Given the description of an element on the screen output the (x, y) to click on. 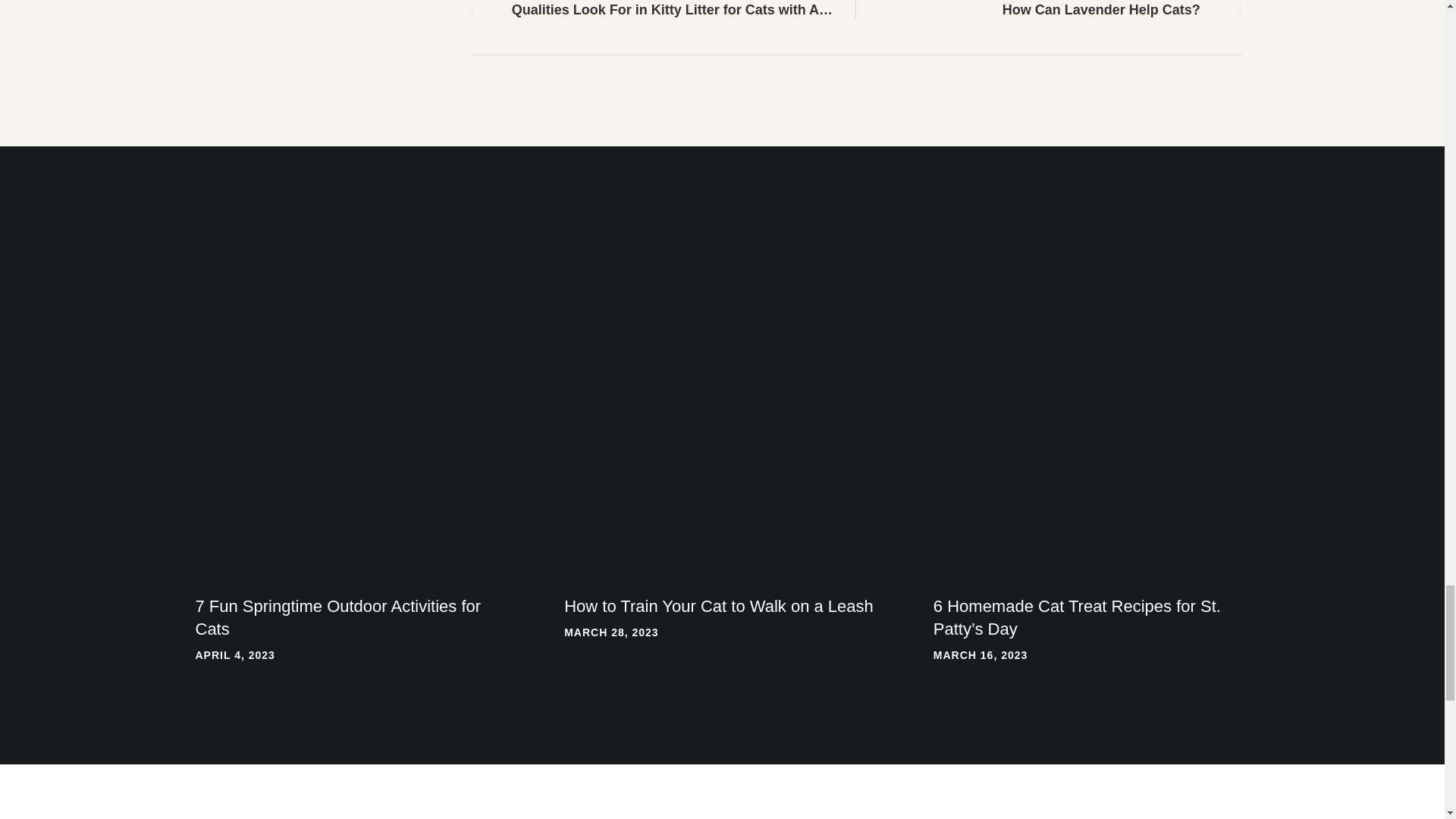
1200x600px-1 (353, 319)
1200x600px-1 (1091, 319)
1200x600px-1 (722, 319)
